Given the description of an element on the screen output the (x, y) to click on. 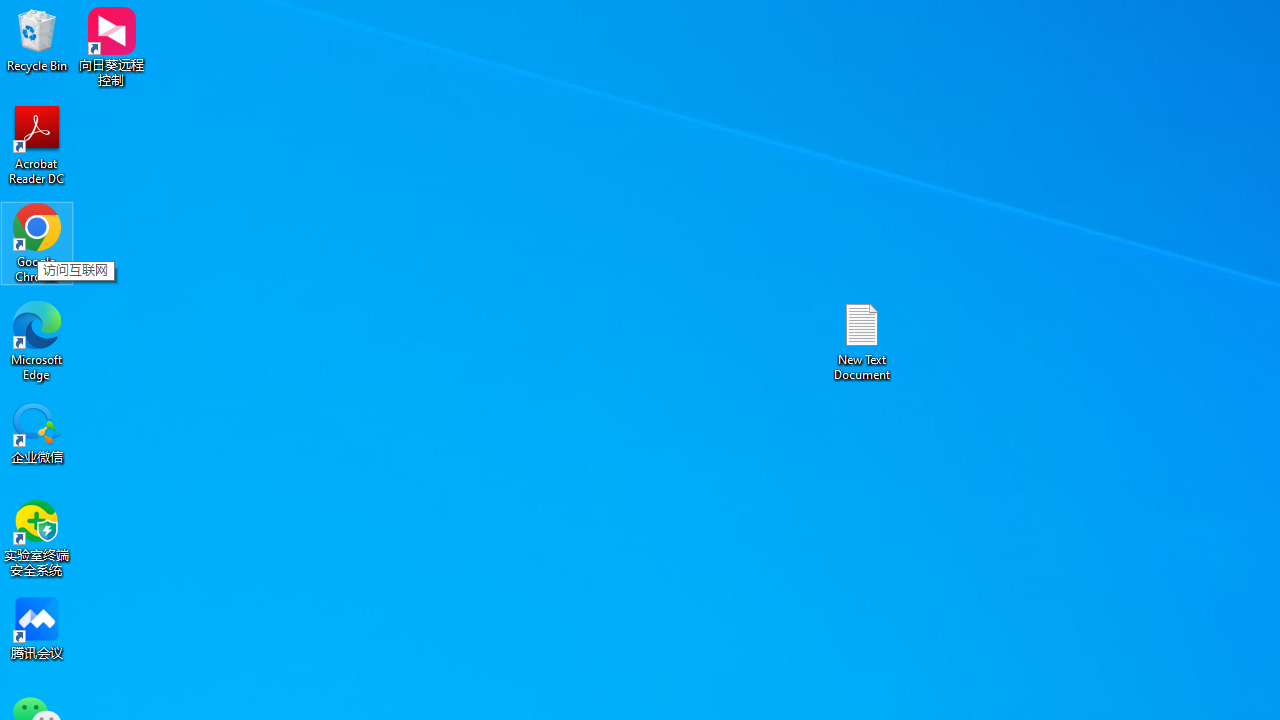
Google Chrome (37, 242)
New Text Document (861, 340)
Microsoft Edge (37, 340)
Recycle Bin (37, 39)
Acrobat Reader DC (37, 144)
